Given the description of an element on the screen output the (x, y) to click on. 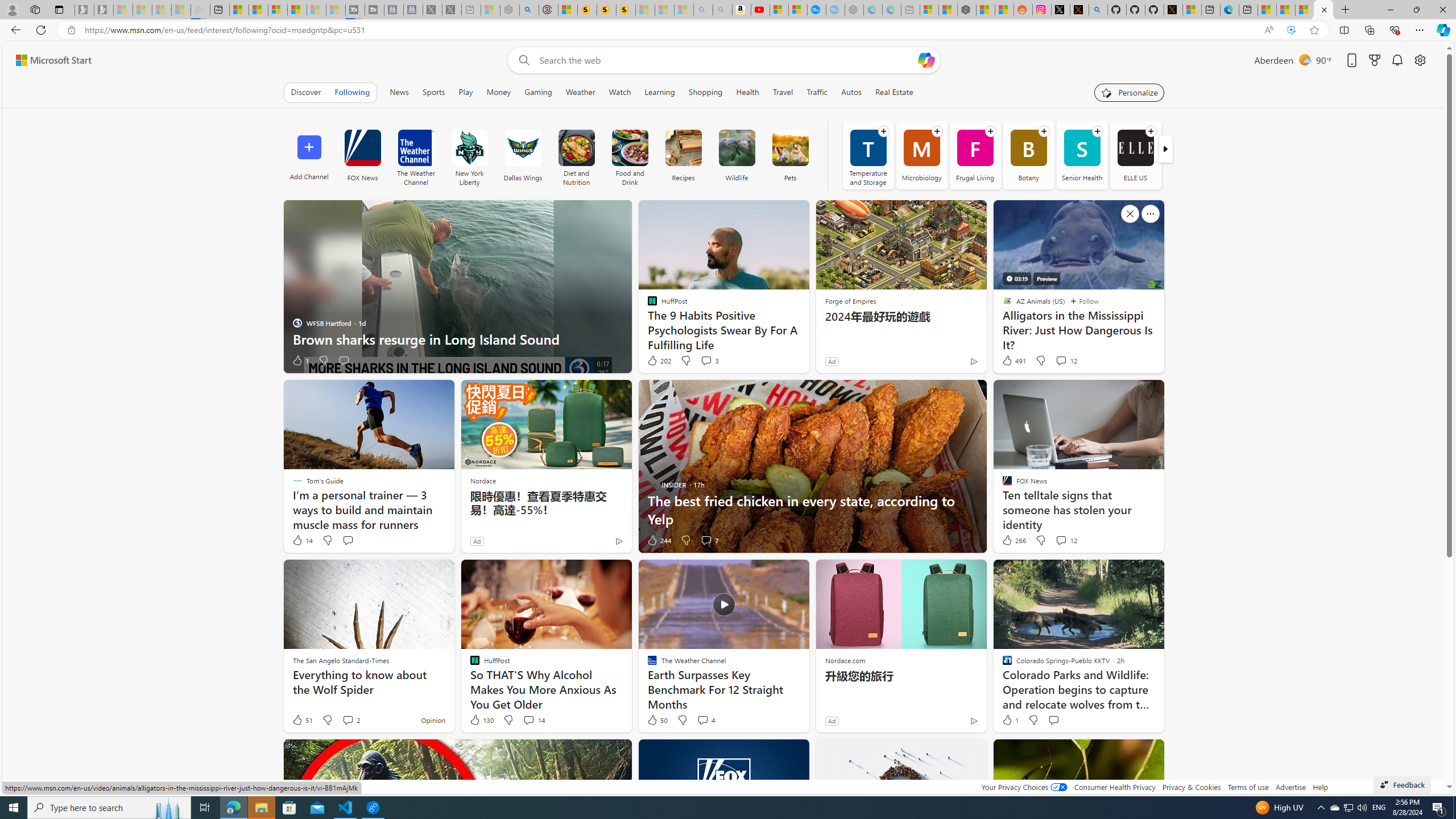
Hide this story (1129, 752)
Wildlife (736, 155)
Terms of use (1247, 786)
491 Like (1012, 360)
FOX News (362, 147)
View comments 2 Comment (347, 719)
Privacy & Cookies (1191, 786)
Senior Health (1081, 155)
